Given the description of an element on the screen output the (x, y) to click on. 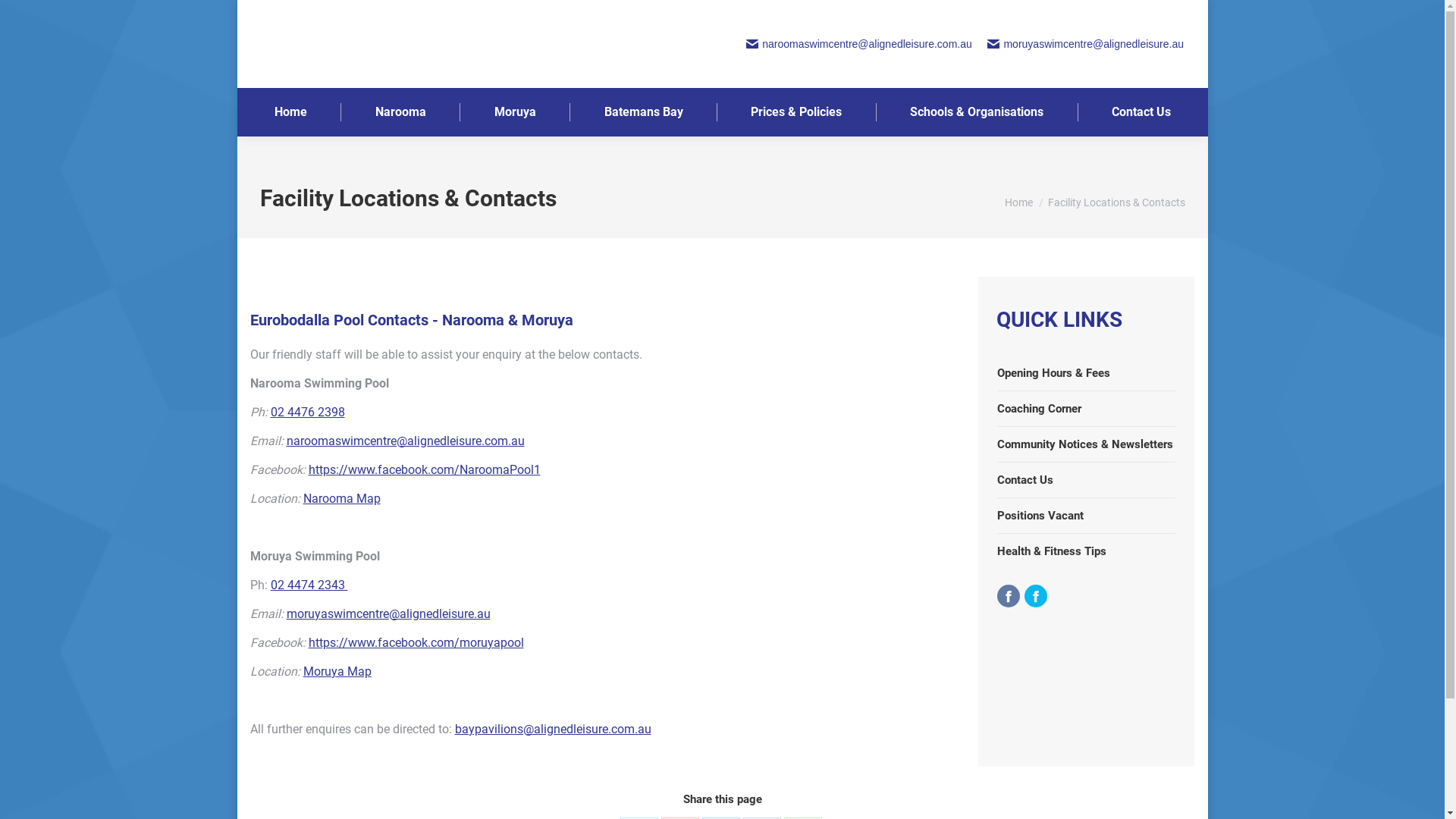
Schools & Organisations Element type: text (976, 111)
Contact Us Element type: text (1024, 480)
https://www.facebook.com/moruyapool Element type: text (415, 642)
Coaching Corner Element type: text (1038, 408)
baypavilions@alignedleisure.com.au Element type: text (553, 728)
02 4474 2343  Element type: text (308, 584)
moruyaswimcentre@alignedleisure.au Element type: text (388, 613)
Facebook Element type: text (1007, 594)
moruyaswimcentre@alignedleisure.au Element type: text (1084, 43)
Community Notices & Newsletters Element type: text (1084, 443)
https://www.facebook.com/NaroomaPool1 Element type: text (423, 469)
Narooma Element type: text (399, 111)
Home Element type: text (289, 111)
Narooma Map Element type: text (341, 498)
Prices & Policies Element type: text (795, 111)
naroomaswimcentre@alignedleisure.com.au Element type: text (405, 440)
Moruya Element type: text (514, 111)
Opening Hours & Fees Element type: text (1052, 372)
Facebook Element type: text (1034, 594)
02 4476 2398 Element type: text (306, 411)
Moruya Map Element type: text (337, 671)
Positions Vacant Element type: text (1039, 515)
naroomaswimcentre@alignedleisure.com.au Element type: text (858, 43)
Health & Fitness Tips Element type: text (1050, 551)
Batemans Bay Element type: text (642, 111)
Contact Us Element type: text (1140, 111)
Home Element type: text (1018, 202)
